Given the description of an element on the screen output the (x, y) to click on. 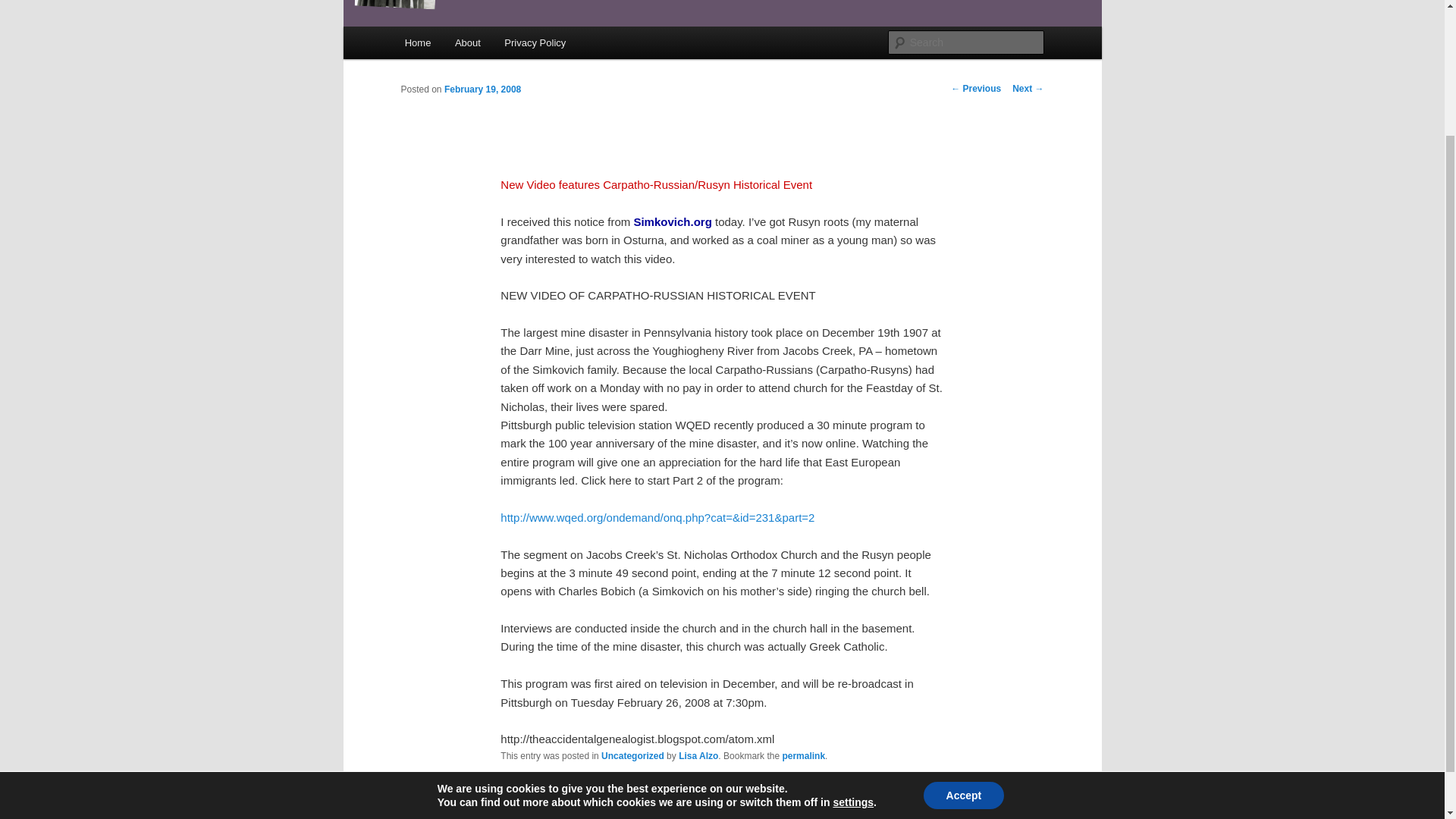
Accept (963, 634)
Lisa Alzo (697, 756)
Permalink to  (803, 756)
Simkovich.org (673, 221)
February 19, 2008 (482, 89)
Privacy Policy (535, 42)
Home (417, 42)
Proudly powered by WordPress (758, 810)
Uncategorized (632, 756)
1:55 am (482, 89)
Privacy Policy (646, 810)
About (467, 42)
Semantic Personal Publishing Platform (758, 810)
permalink (803, 756)
settings (852, 641)
